Given the description of an element on the screen output the (x, y) to click on. 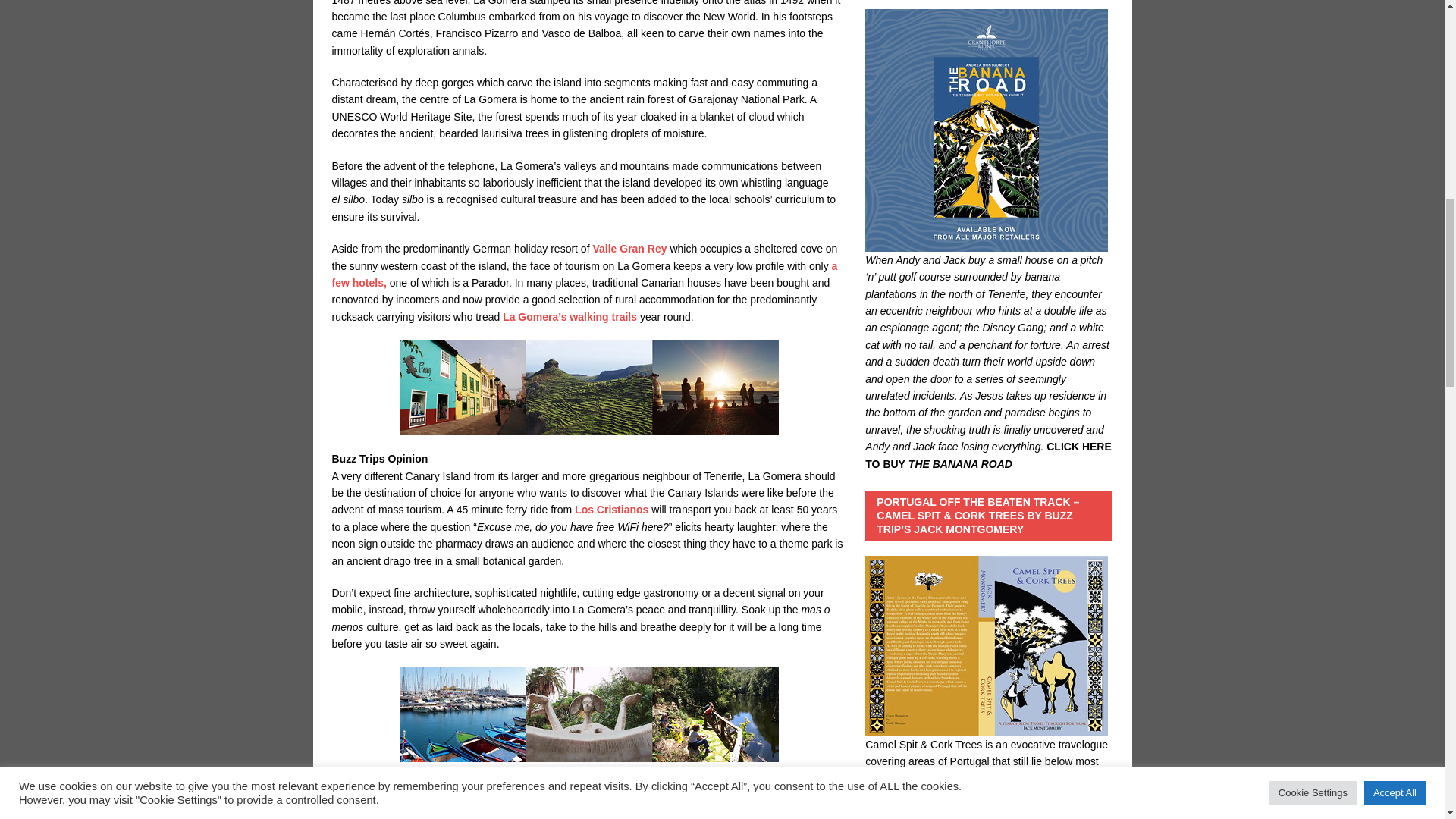
By the Time Dawn Breaks, the magic of the Canary Islands (720, 816)
The AI view of the Canary Islands (457, 816)
